Given the description of an element on the screen output the (x, y) to click on. 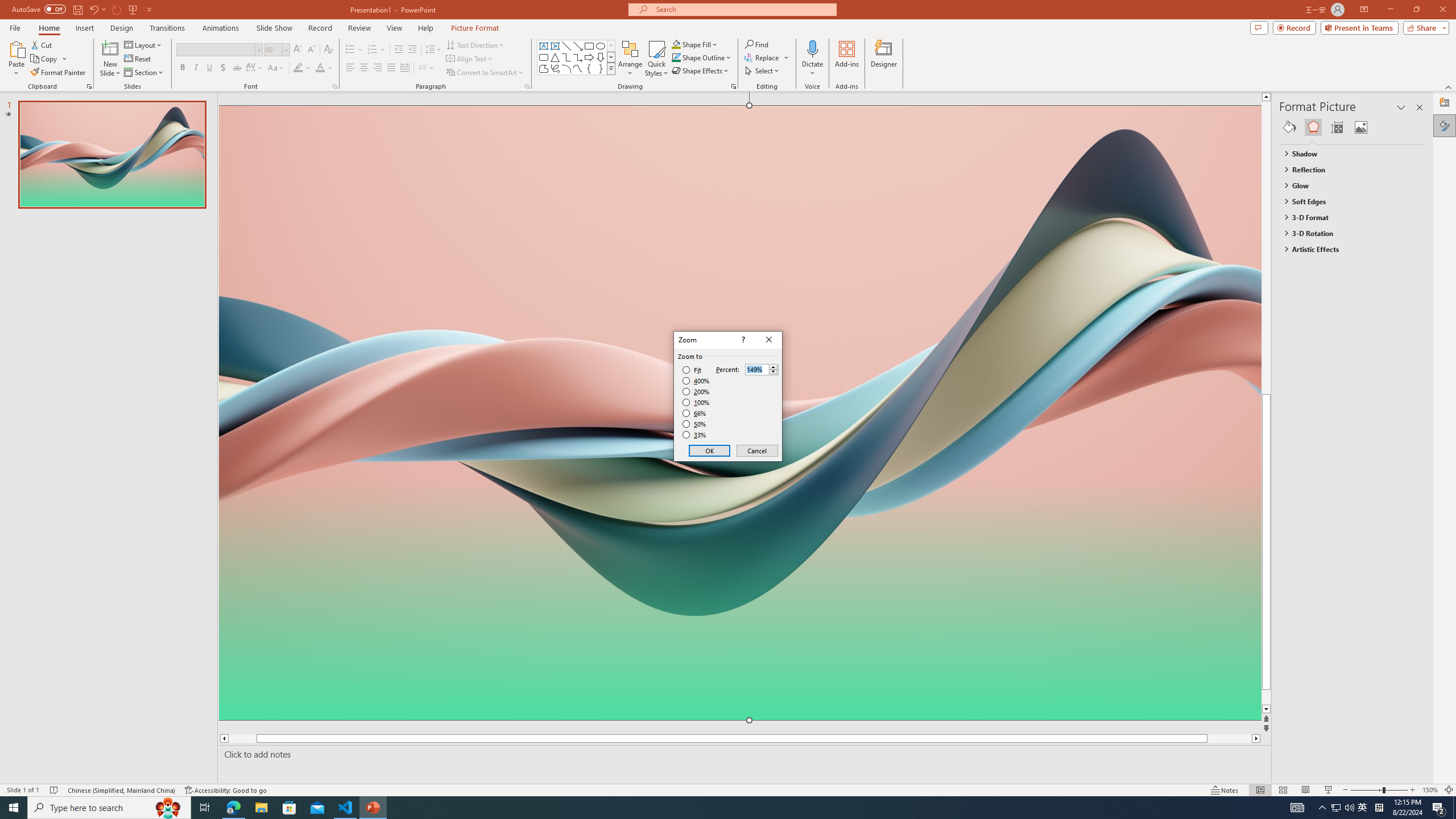
Effects (1313, 126)
Fit (691, 370)
